Given the description of an element on the screen output the (x, y) to click on. 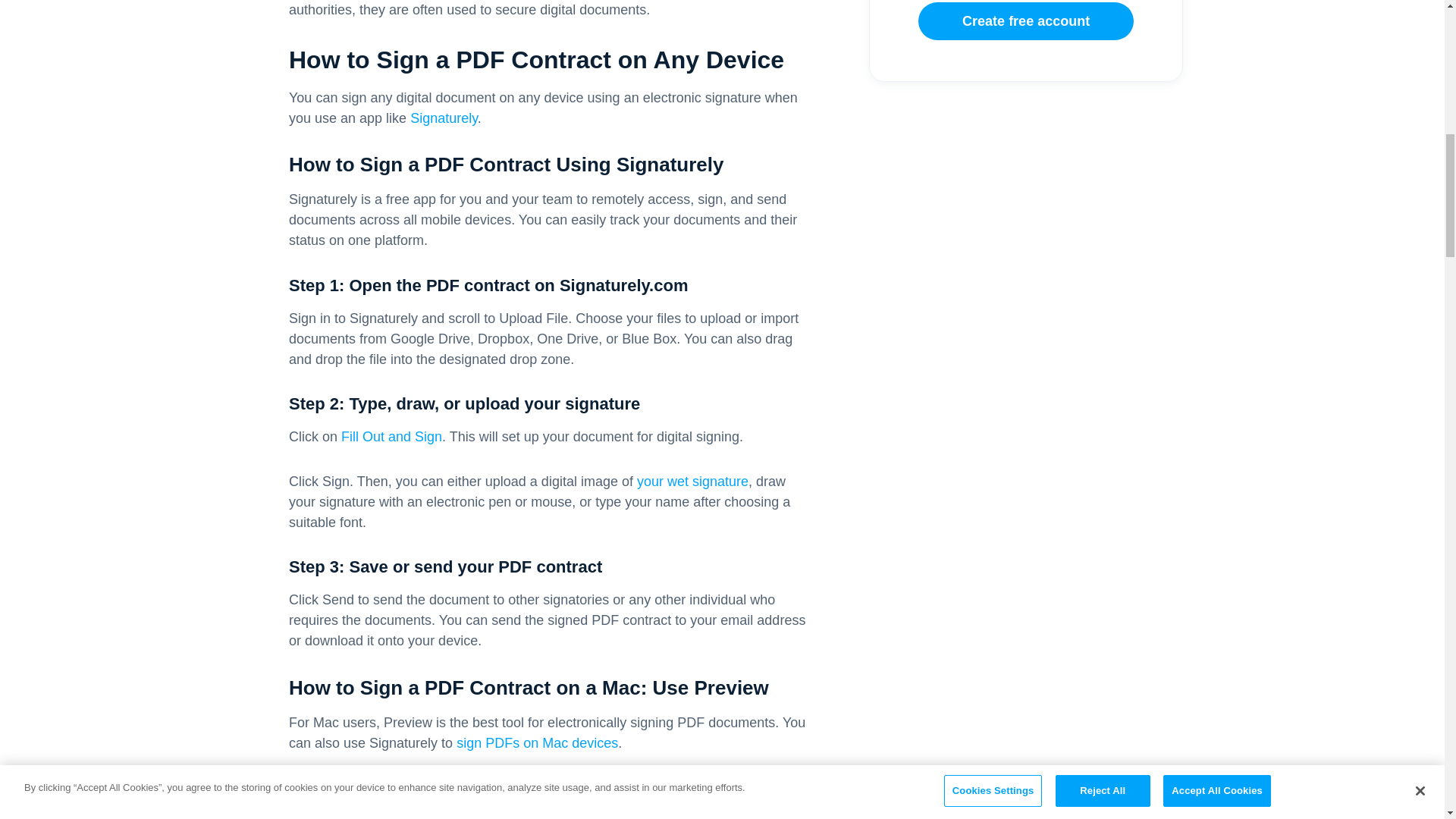
sign PDFs on Mac devices (537, 743)
Signaturely (443, 118)
Create free account (1026, 21)
Fill Out and Sign (391, 436)
your wet signature (692, 481)
